Given the description of an element on the screen output the (x, y) to click on. 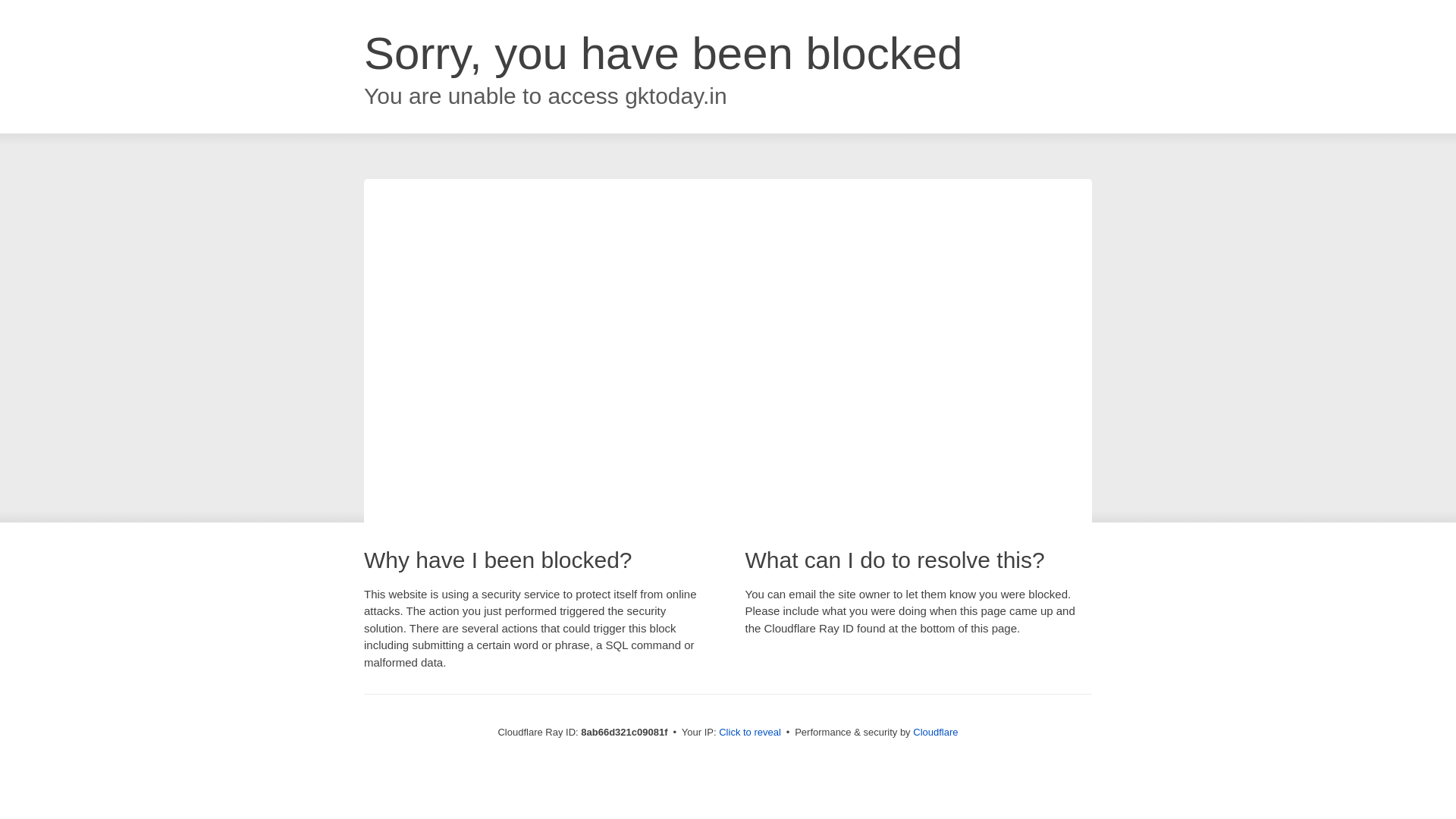
Cloudflare (935, 731)
Click to reveal (749, 732)
